Given the description of an element on the screen output the (x, y) to click on. 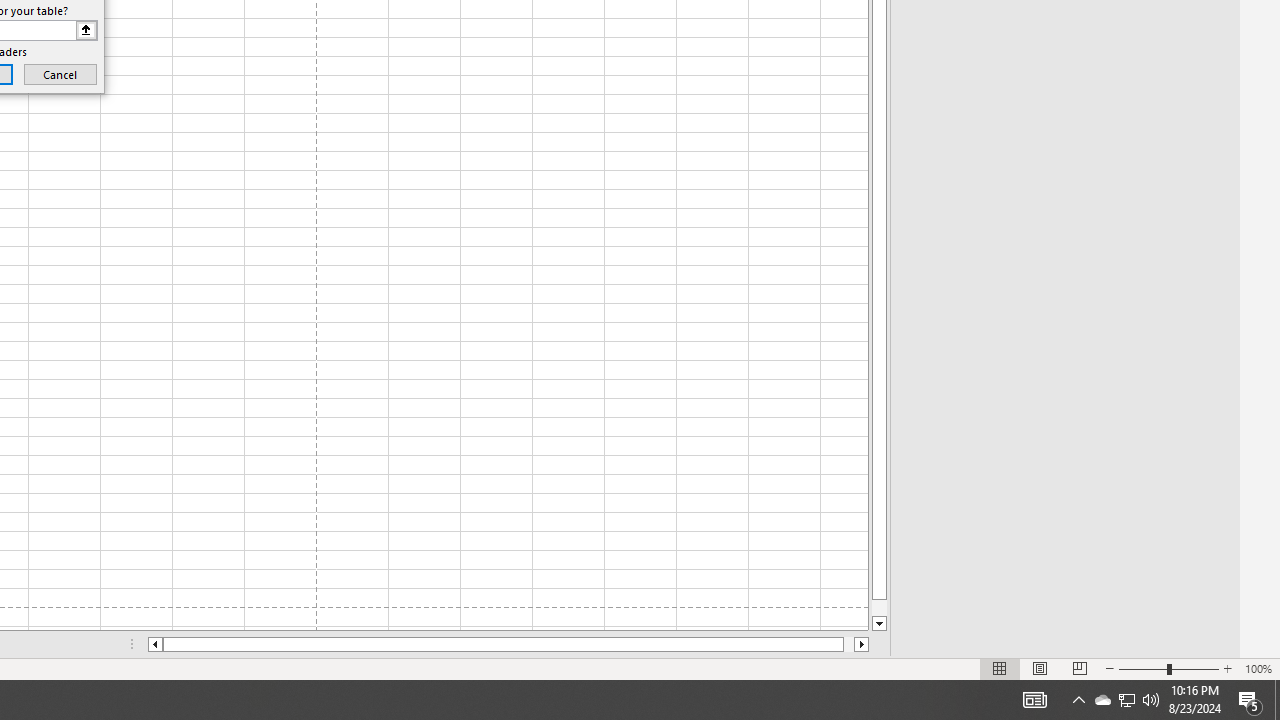
Zoom In (1227, 668)
Zoom Out (1142, 668)
Class: NetUIScrollBar (507, 644)
Page Break Preview (1079, 668)
Page down (879, 607)
Zoom (1168, 668)
Column left (153, 644)
Column right (861, 644)
Page right (848, 644)
Normal (1000, 668)
Line down (879, 624)
